Given the description of an element on the screen output the (x, y) to click on. 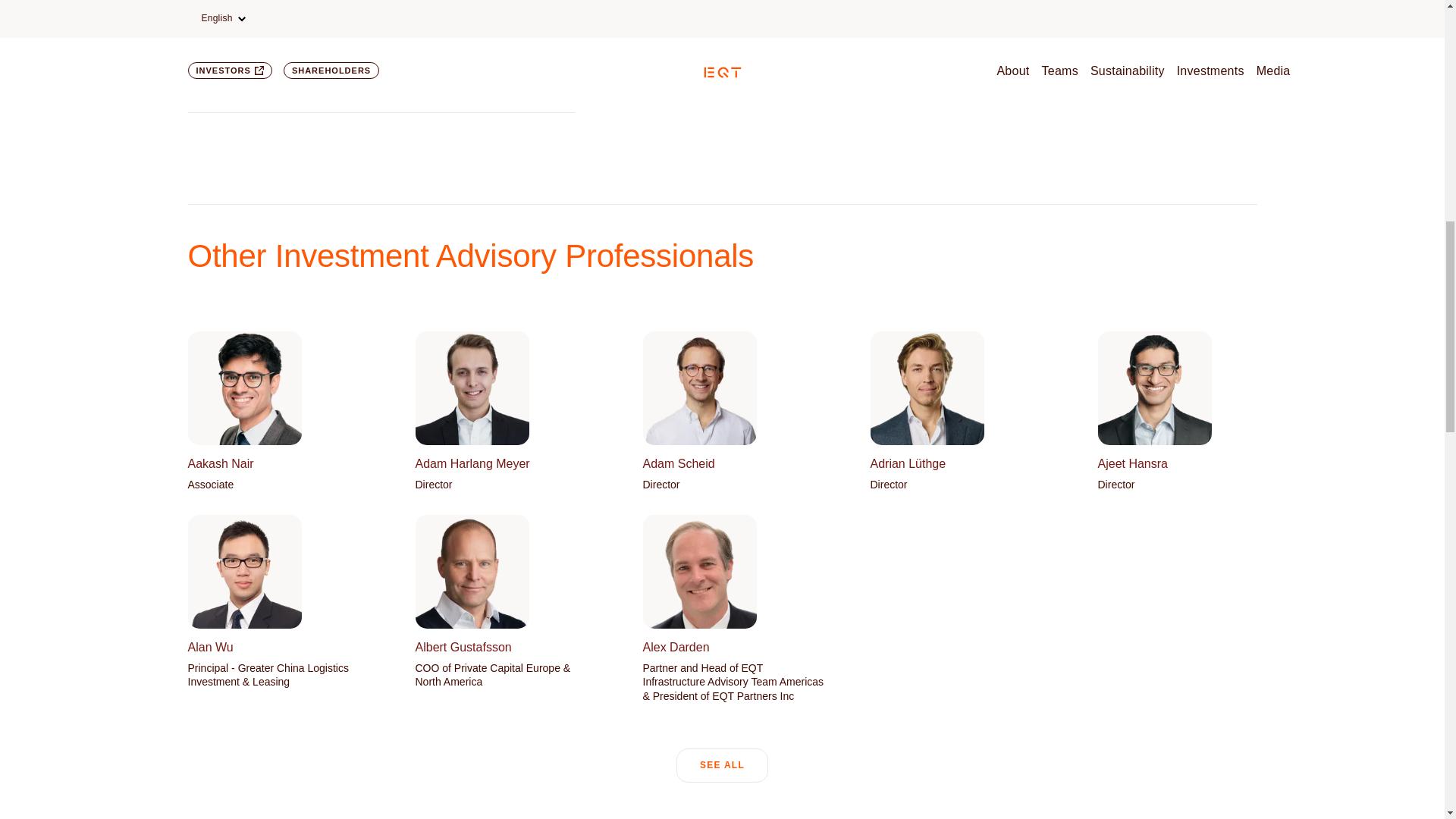
SEE ALL (722, 765)
